Given the description of an element on the screen output the (x, y) to click on. 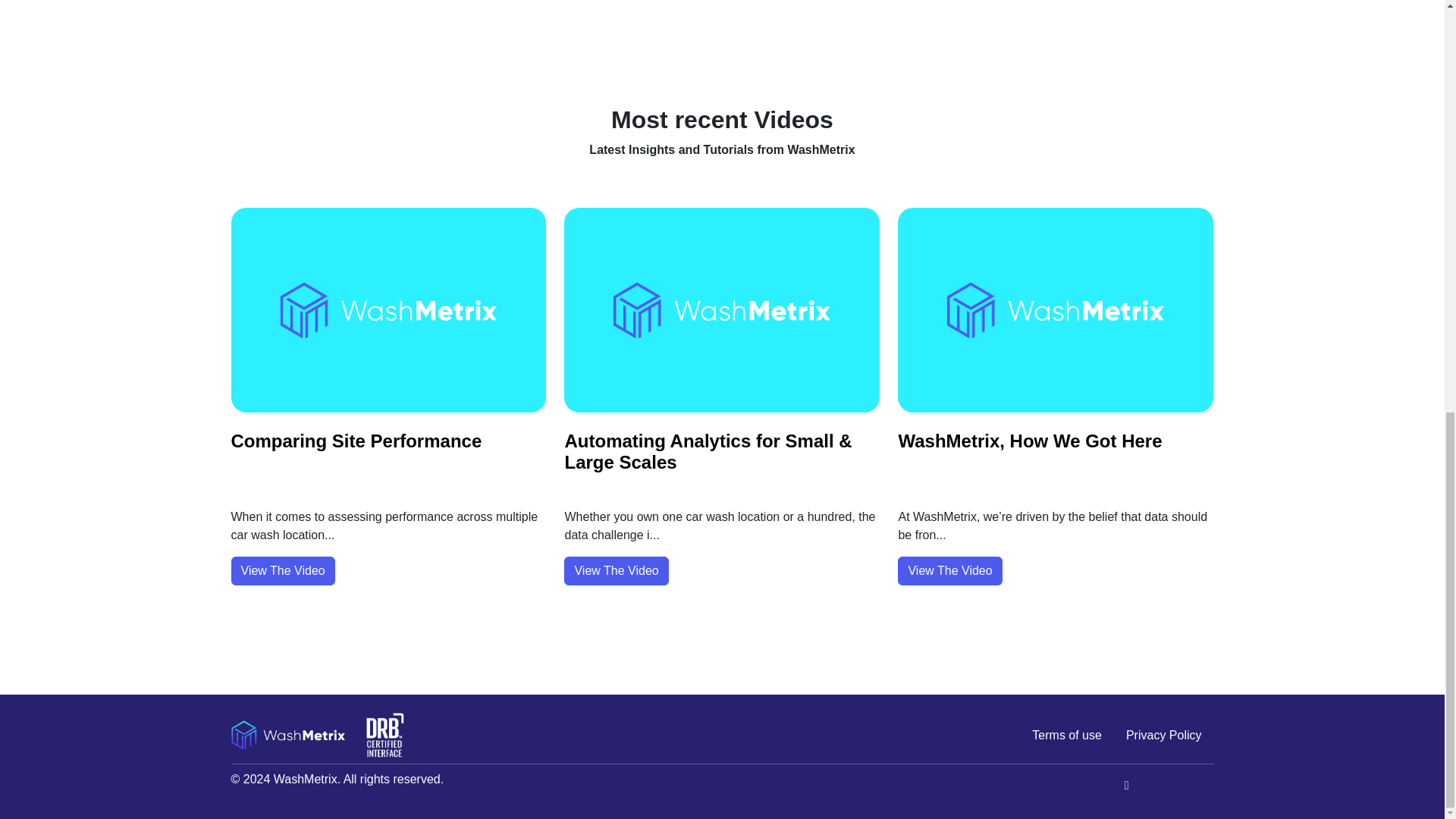
YouTube video (721, 34)
Comparing Site Performance (355, 440)
WashMetrix, How We Got Here (1029, 440)
Terms of use (1066, 735)
View The Video (949, 570)
View The Video (616, 570)
View The Video (282, 570)
Privacy Policy (1163, 735)
